Given the description of an element on the screen output the (x, y) to click on. 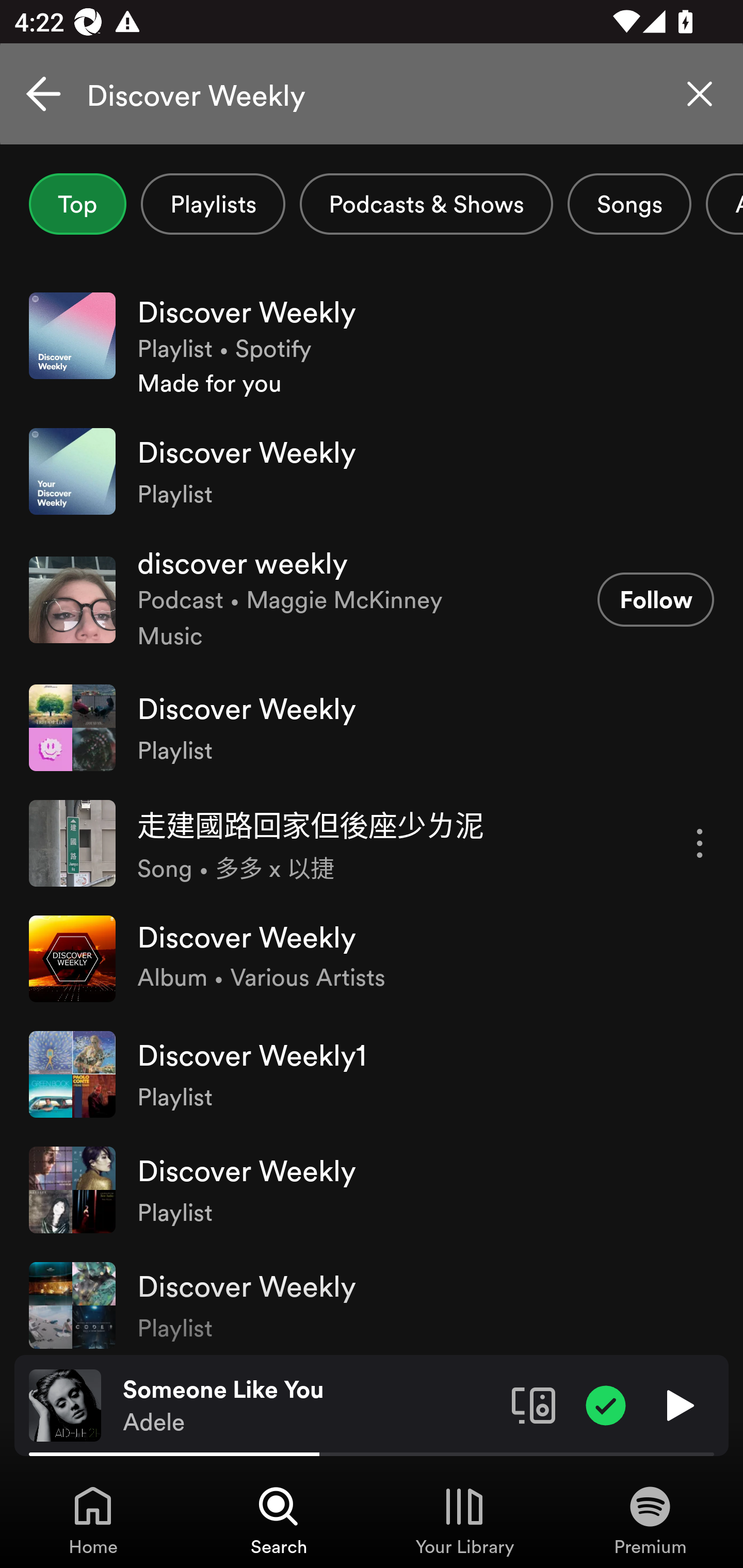
Discover Weekly (371, 93)
Cancel (43, 93)
Clear search query (699, 93)
Top (77, 203)
Playlists (213, 203)
Podcasts & Shows (425, 203)
Songs (629, 203)
Discover Weekly Playlist • Spotify Made for you (371, 345)
Discover Weekly Playlist (371, 471)
Follow (655, 599)
Discover Weekly Playlist (371, 727)
More options for song 走建國路回家但後座少ㄌ泥 (699, 842)
Discover Weekly Album • Various Artists (371, 958)
Discover Weekly1 Playlist (371, 1074)
Discover Weekly Playlist (371, 1190)
Discover Weekly Playlist (371, 1301)
Someone Like You Adele (309, 1405)
The cover art of the currently playing track (64, 1404)
Connect to a device. Opens the devices menu (533, 1404)
Item added (605, 1404)
Play (677, 1404)
Home, Tab 1 of 4 Home Home (92, 1519)
Search, Tab 2 of 4 Search Search (278, 1519)
Your Library, Tab 3 of 4 Your Library Your Library (464, 1519)
Premium, Tab 4 of 4 Premium Premium (650, 1519)
